Given the description of an element on the screen output the (x, y) to click on. 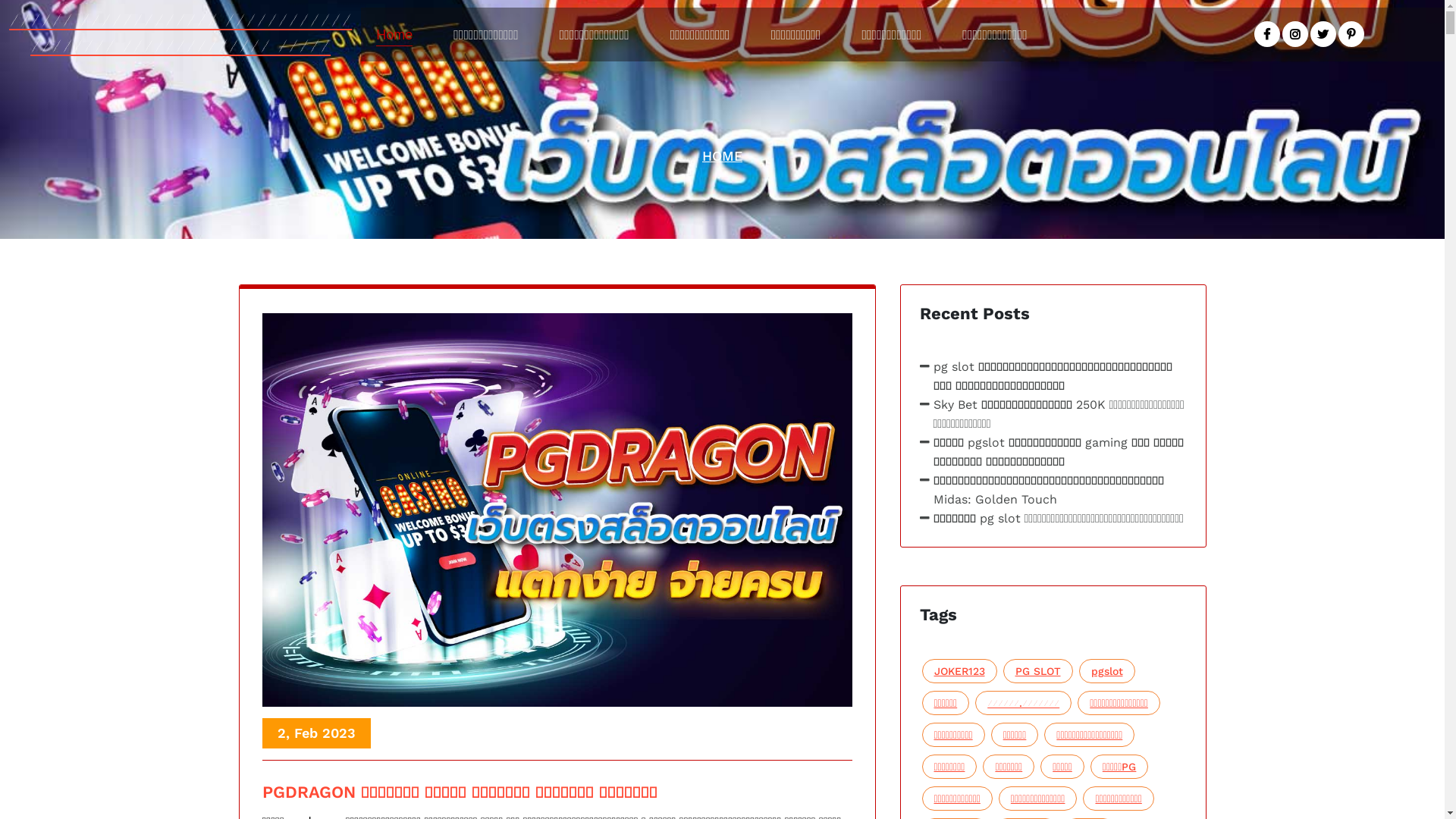
JOKER123 Element type: text (959, 670)
pgslot Element type: text (1106, 670)
PG SLOT Element type: text (1037, 670)
HOME Element type: text (722, 155)
Home Element type: text (394, 34)
